Given the description of an element on the screen output the (x, y) to click on. 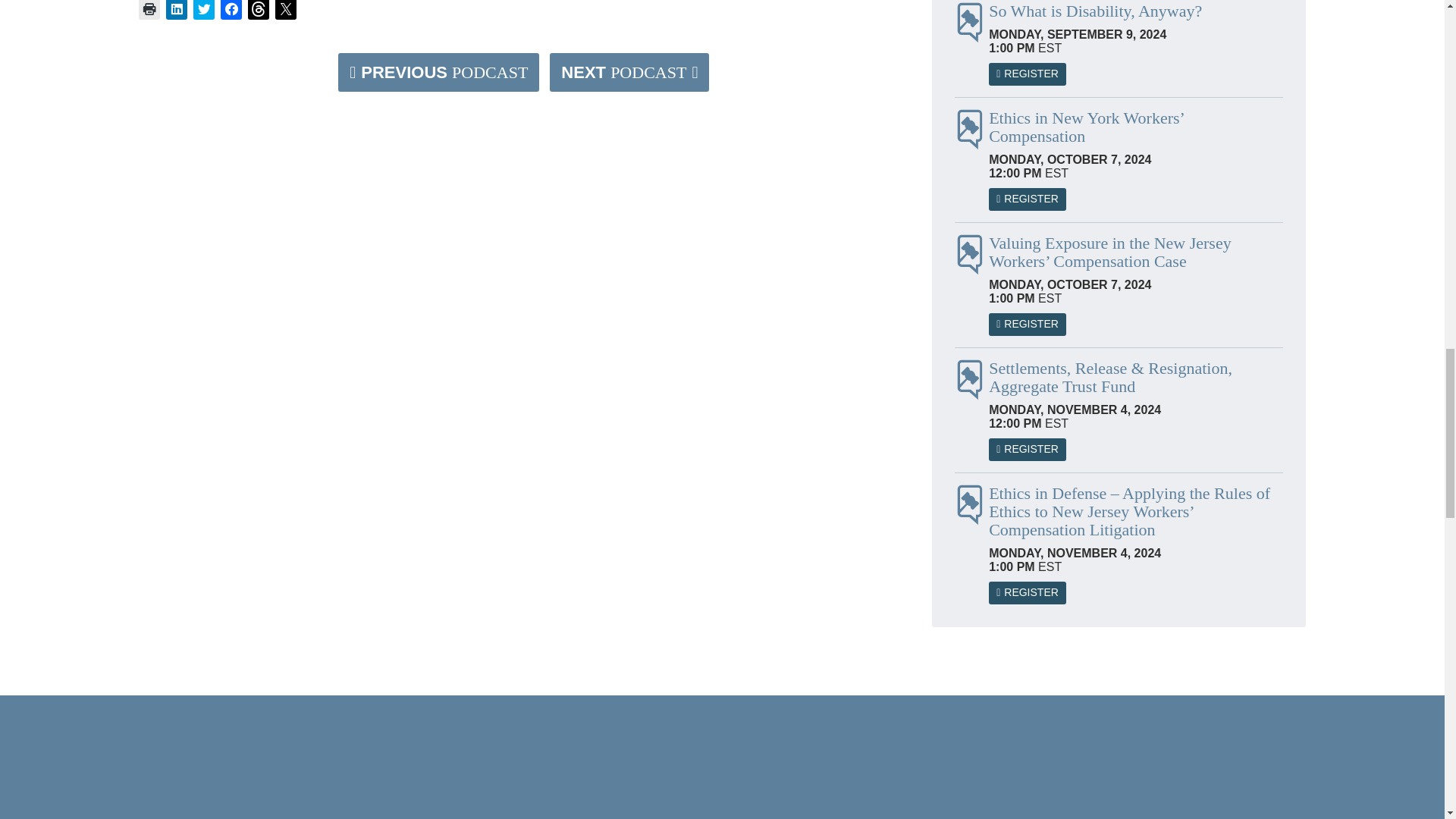
Click to print (148, 9)
Click to share on Threads (257, 9)
Click to share on Facebook (230, 9)
Click to share on X (285, 9)
Click to share on LinkedIn (175, 9)
Click to share on Twitter (203, 9)
